Given the description of an element on the screen output the (x, y) to click on. 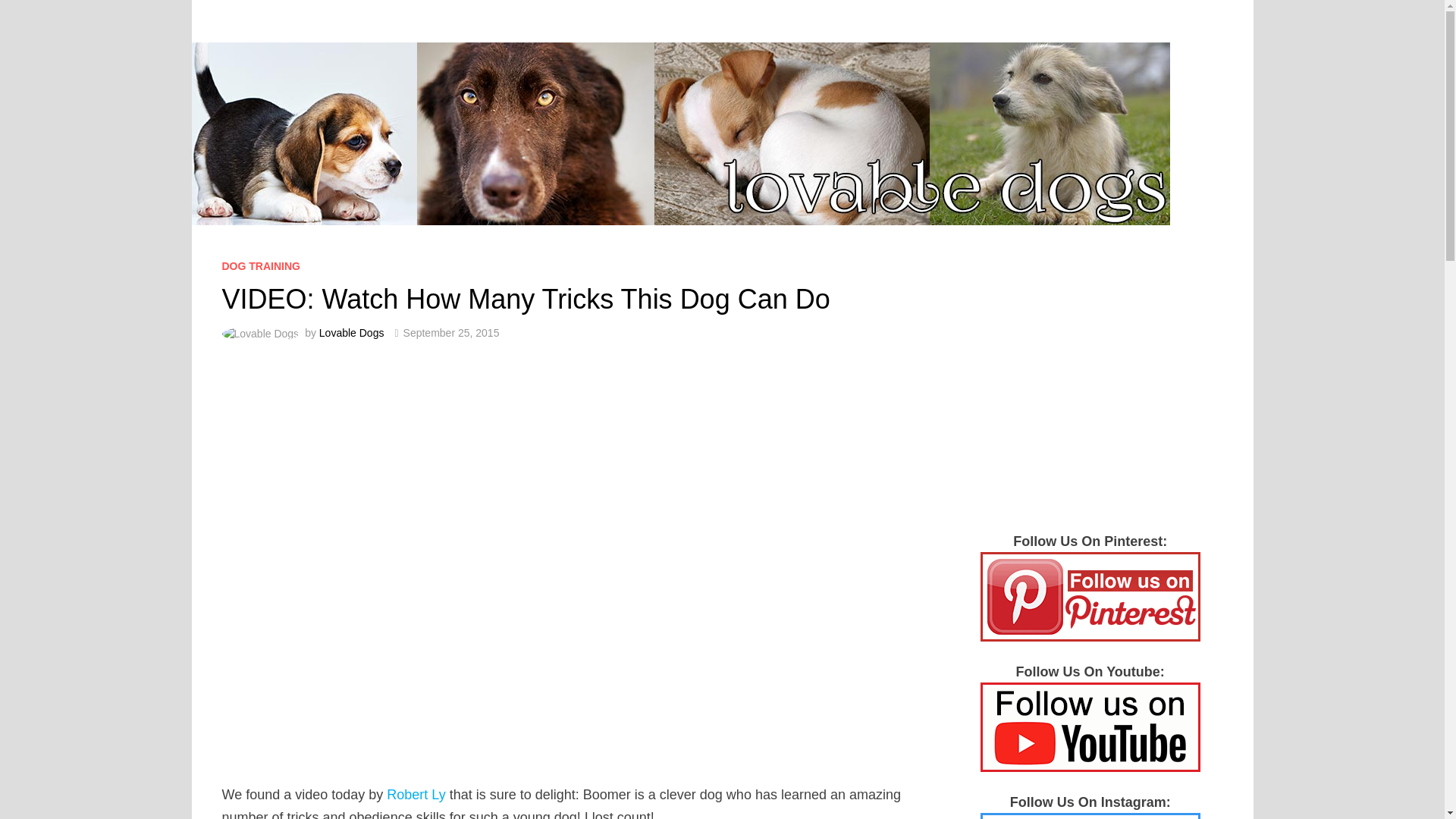
Lovable Dogs (679, 132)
September 25, 2015 (451, 332)
Robert Ly (416, 794)
Lovable Dogs (351, 332)
DOG TRAINING (260, 265)
